Given the description of an element on the screen output the (x, y) to click on. 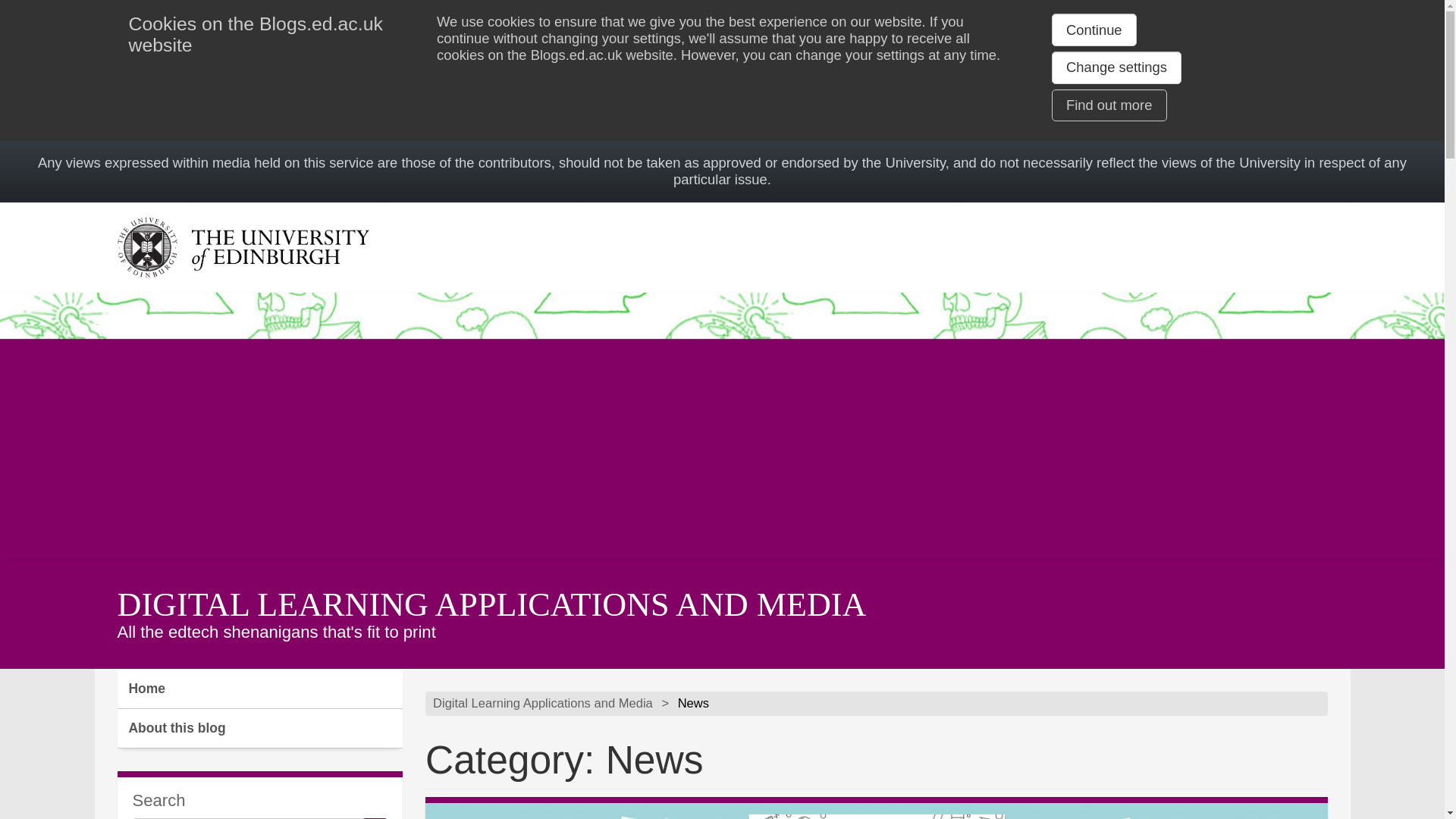
Find out more (1109, 105)
About this blog (259, 728)
Home (259, 689)
Change settings (1116, 67)
DIGITAL LEARNING APPLICATIONS AND MEDIA (491, 604)
Continue (1094, 29)
Home (259, 689)
About this blog (259, 728)
